Given the description of an element on the screen output the (x, y) to click on. 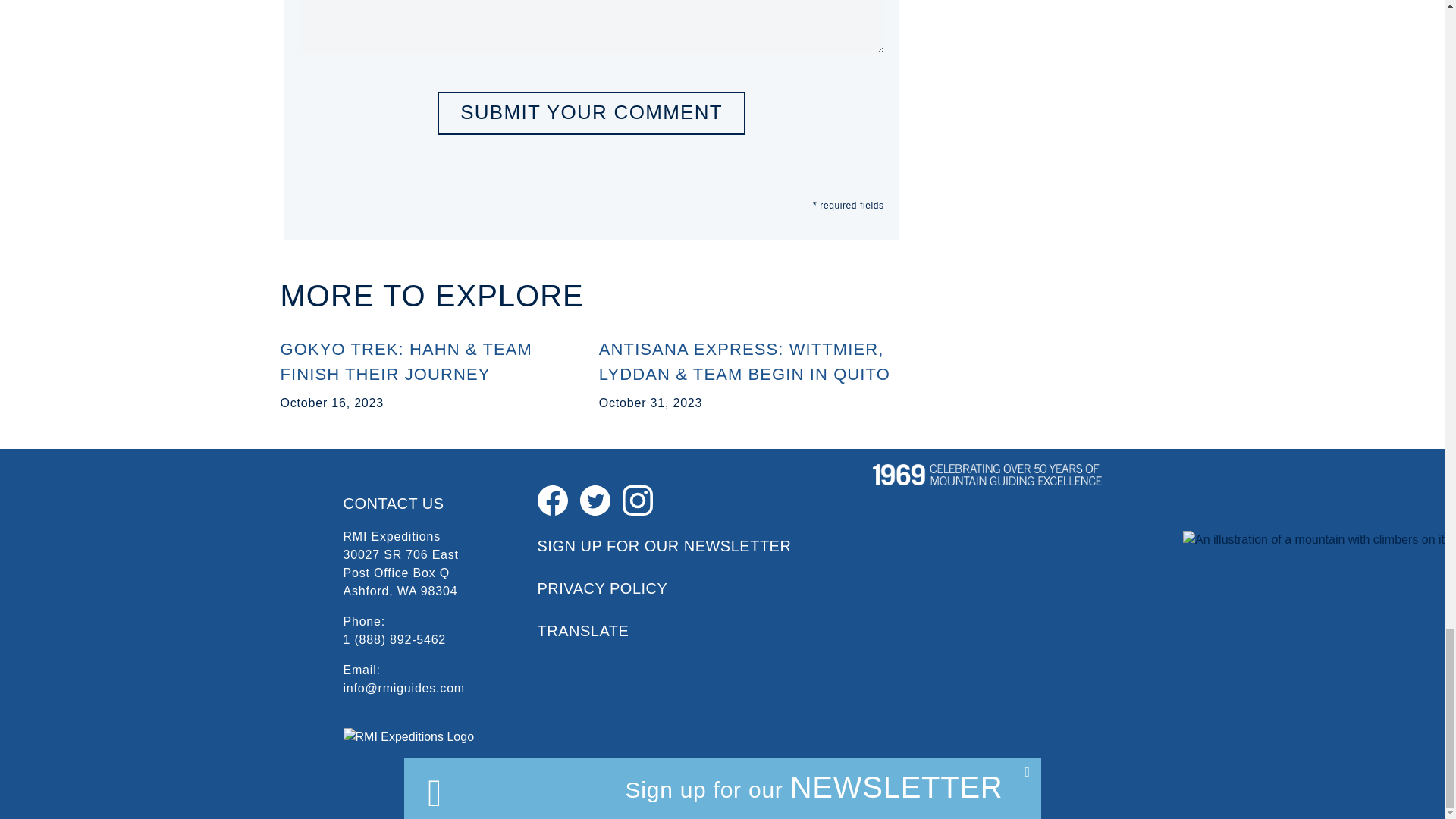
Instagram (637, 499)
Twitter (594, 499)
Facebook (552, 499)
